Given the description of an element on the screen output the (x, y) to click on. 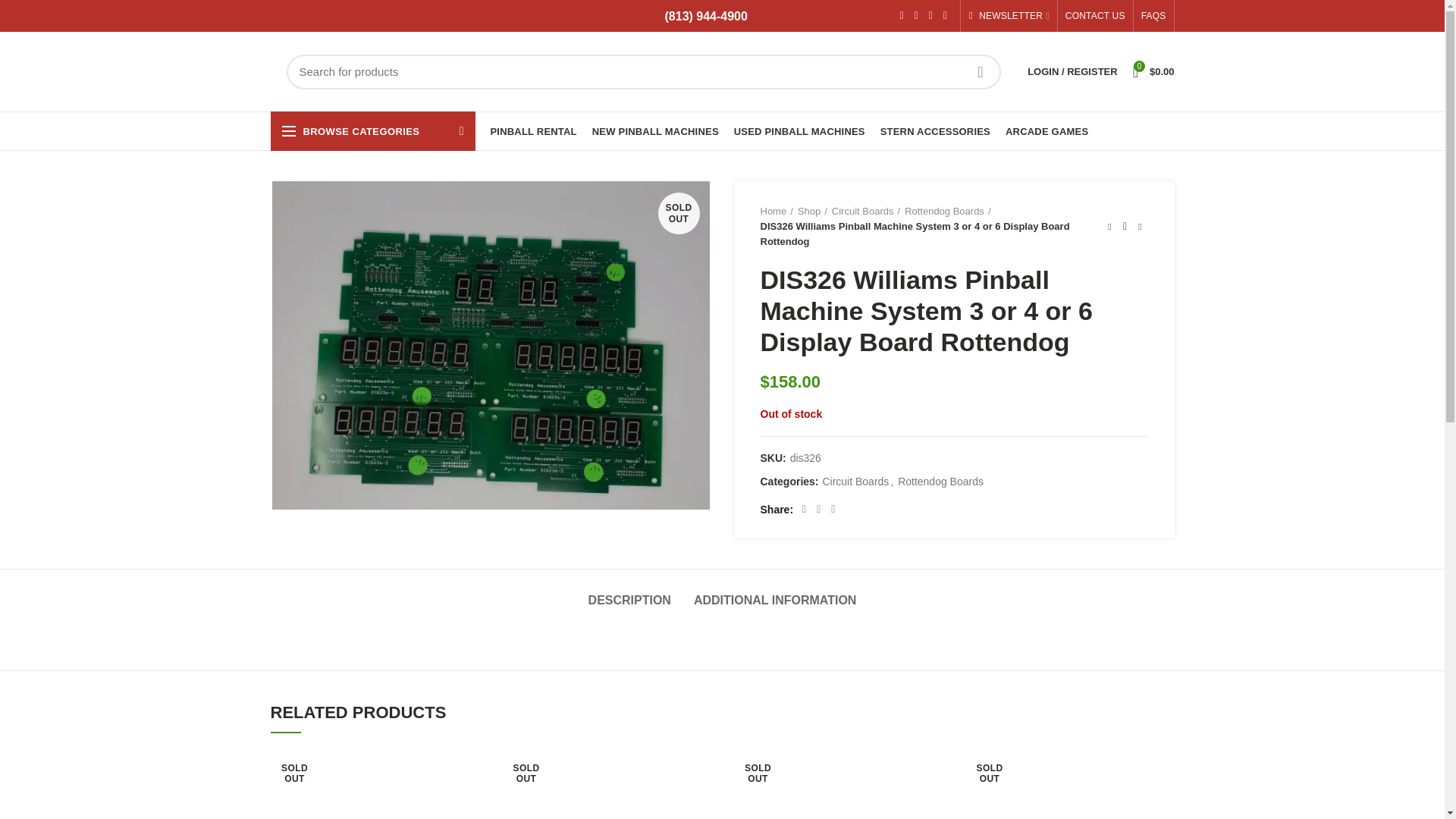
My account (1072, 71)
Log in (992, 296)
Shopping cart (1153, 71)
SEARCH (979, 71)
FAQS (1153, 15)
NEWSLETTER (1008, 15)
CONTACT US (1095, 15)
